Given the description of an element on the screen output the (x, y) to click on. 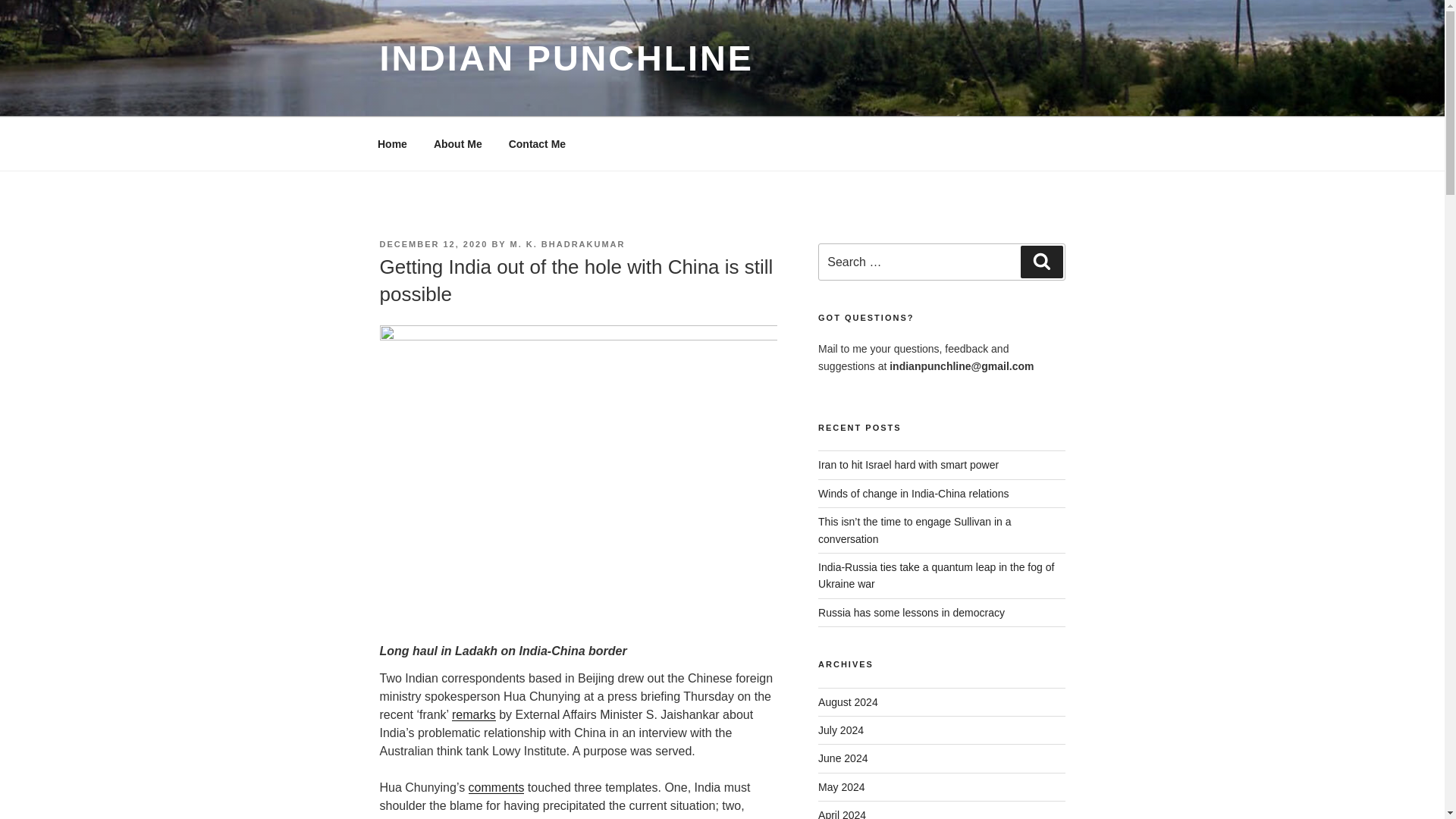
INDIAN PUNCHLINE (565, 57)
Home (392, 144)
May 2024 (841, 787)
July 2024 (840, 729)
June 2024 (842, 758)
comments (496, 787)
remarks (473, 714)
August 2024 (847, 702)
Russia has some lessons in democracy (911, 612)
Contact Me (536, 144)
Search (1041, 261)
Iran to hit Israel hard with smart power (908, 464)
DECEMBER 12, 2020 (432, 243)
M. K. BHADRAKUMAR (568, 243)
